Given the description of an element on the screen output the (x, y) to click on. 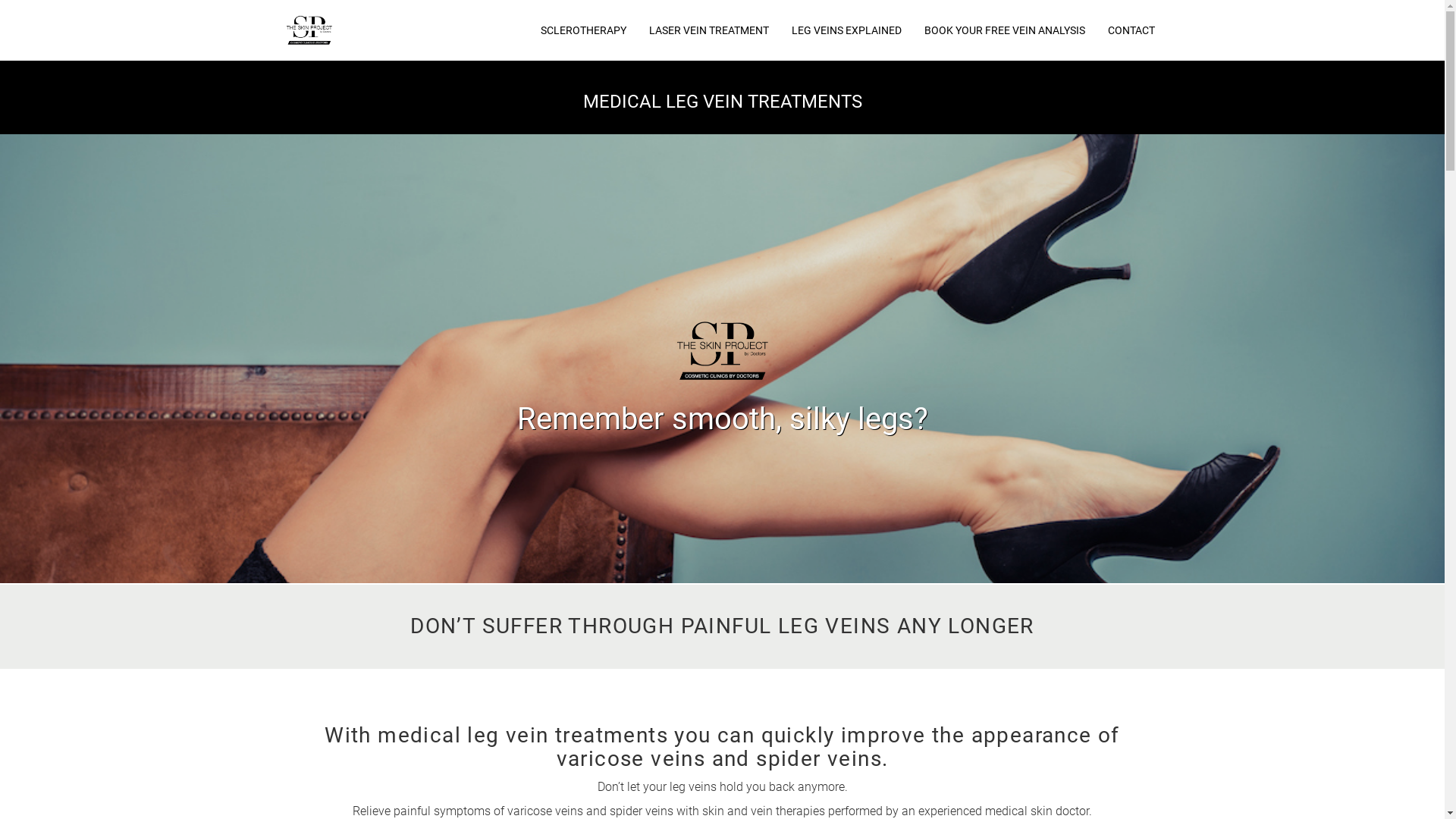
CONTACT Element type: text (1130, 30)
LEG VEINS EXPLAINED Element type: text (846, 30)
Leg Vein Treatments Sydney Element type: hover (309, 30)
LASER VEIN TREATMENT Element type: text (708, 30)
SCLEROTHERAPY Element type: text (582, 30)
BOOK YOUR FREE VEIN ANALYSIS Element type: text (1004, 30)
